Given the description of an element on the screen output the (x, y) to click on. 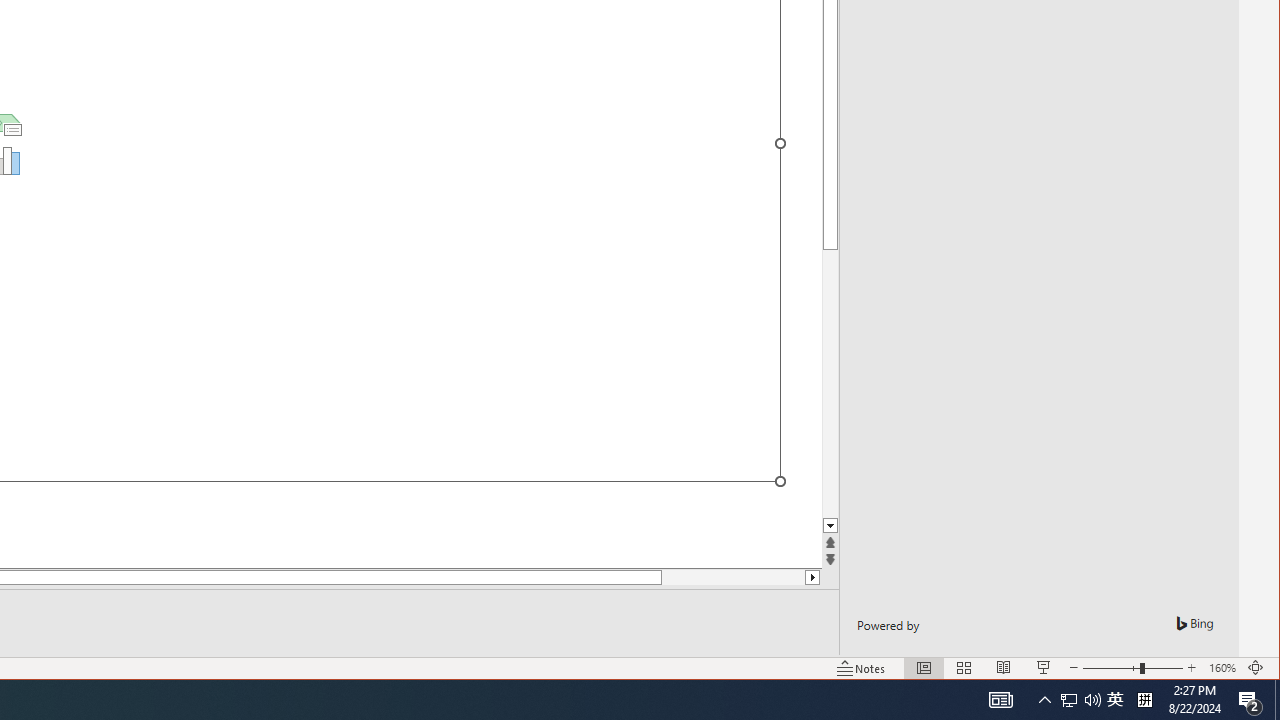
Normal (923, 668)
Reading View (1004, 668)
Zoom In (1191, 668)
Q2790: 100% (1115, 699)
Zoom to Fit  (1092, 699)
Notes  (1069, 699)
Action Center, 2 new notifications (1256, 668)
Page down (861, 668)
Slide Sorter (1250, 699)
Show desktop (764, 577)
Line down (964, 668)
Zoom 160% (1277, 699)
